Given the description of an element on the screen output the (x, y) to click on. 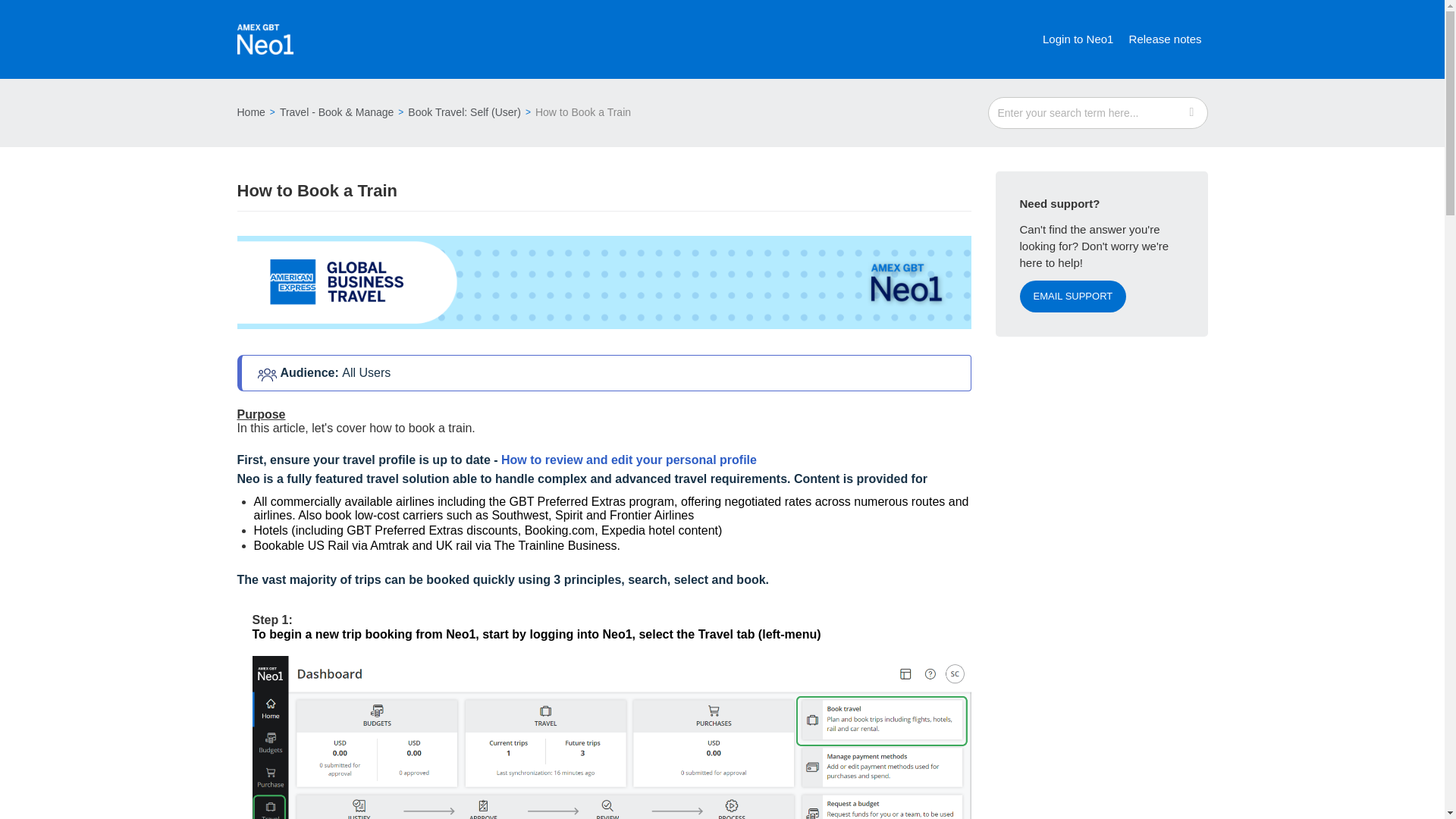
Release notes (1165, 39)
How to review and edit your personal profile (628, 459)
EMAIL SUPPORT (1072, 296)
Home (249, 112)
Login to Neo1 (1077, 39)
